Given the description of an element on the screen output the (x, y) to click on. 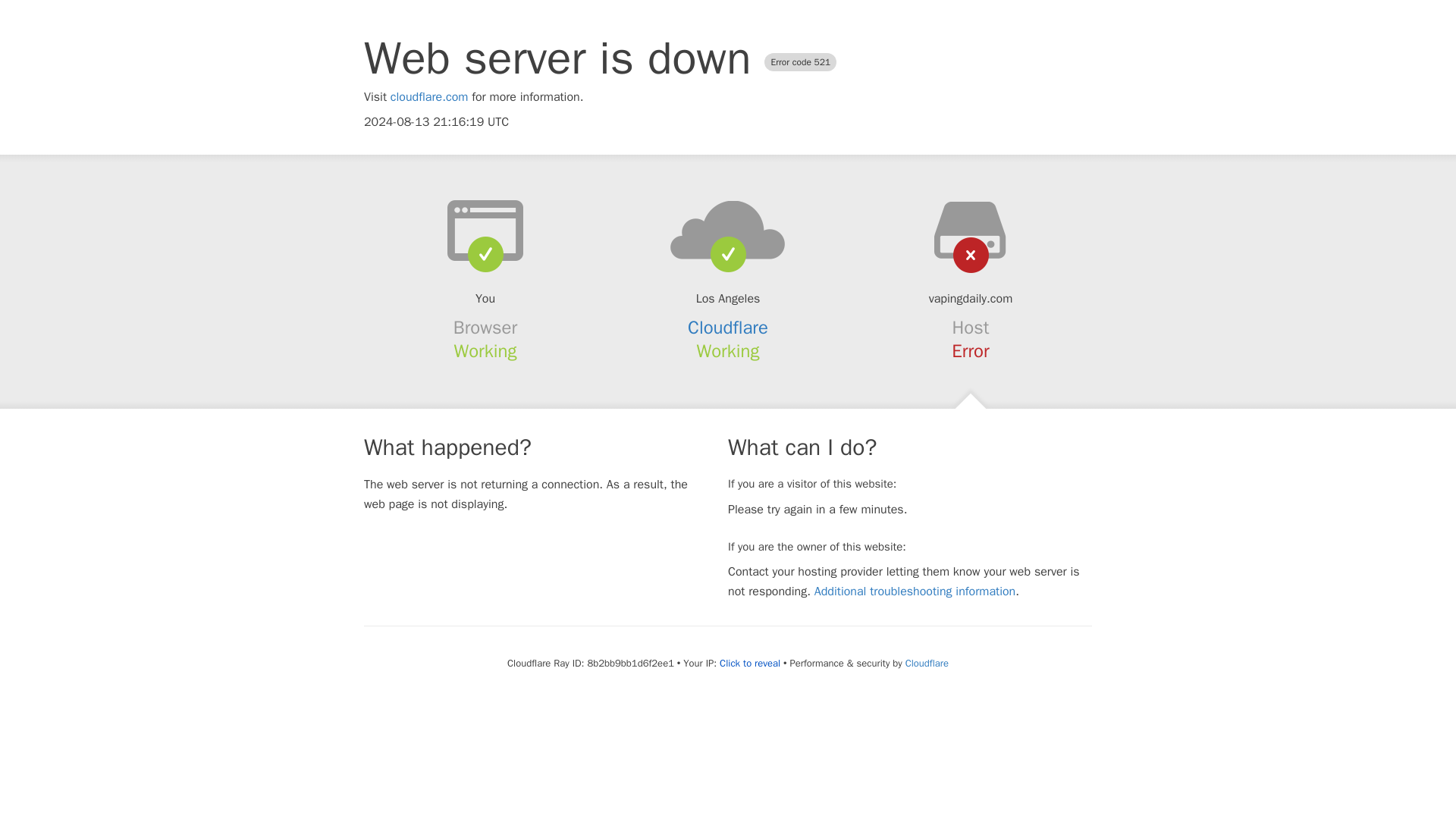
Additional troubleshooting information (913, 590)
Cloudflare (727, 327)
cloudflare.com (429, 96)
Click to reveal (749, 663)
Cloudflare (927, 662)
